Given the description of an element on the screen output the (x, y) to click on. 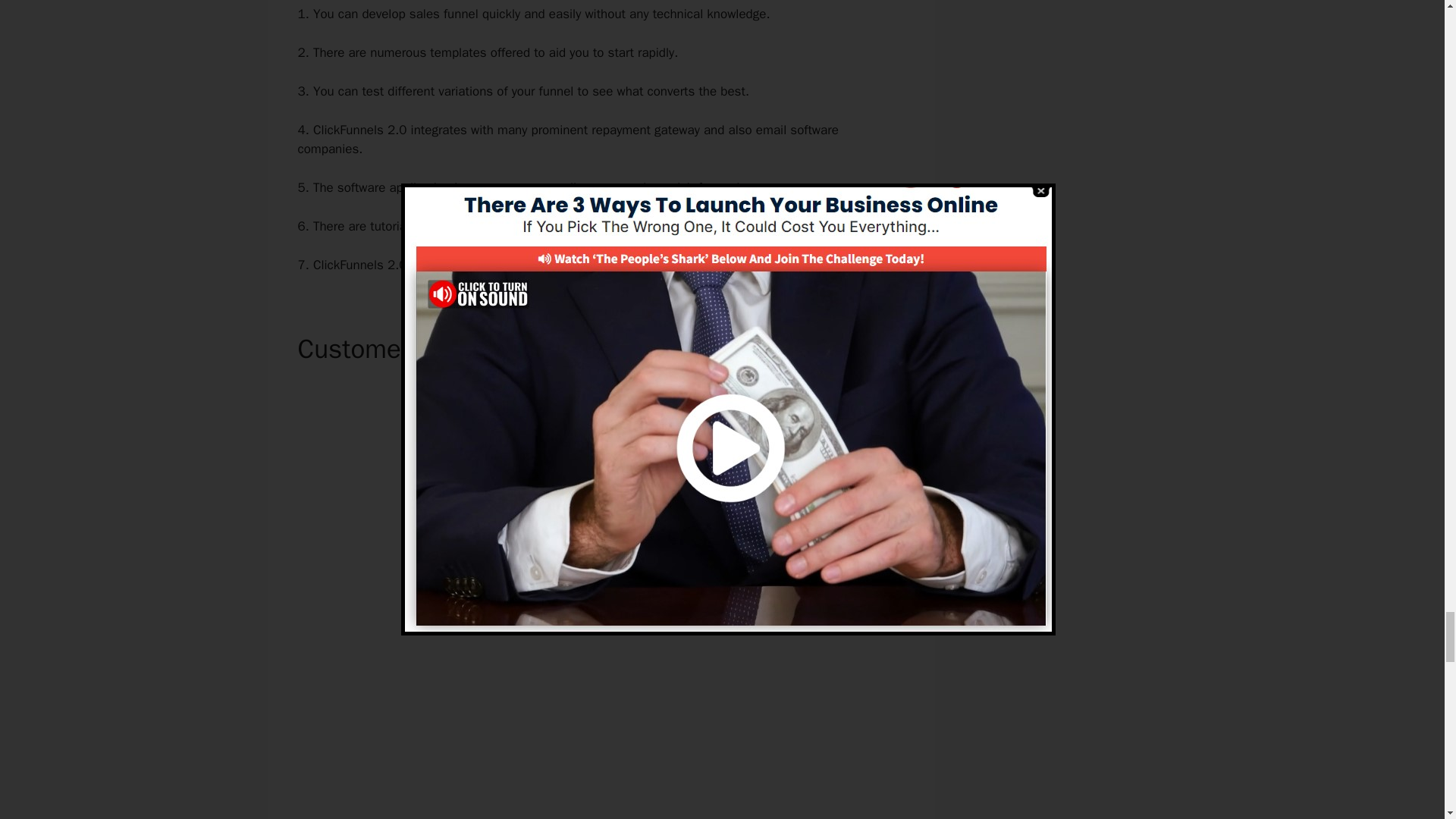
assistance (630, 226)
